Given the description of an element on the screen output the (x, y) to click on. 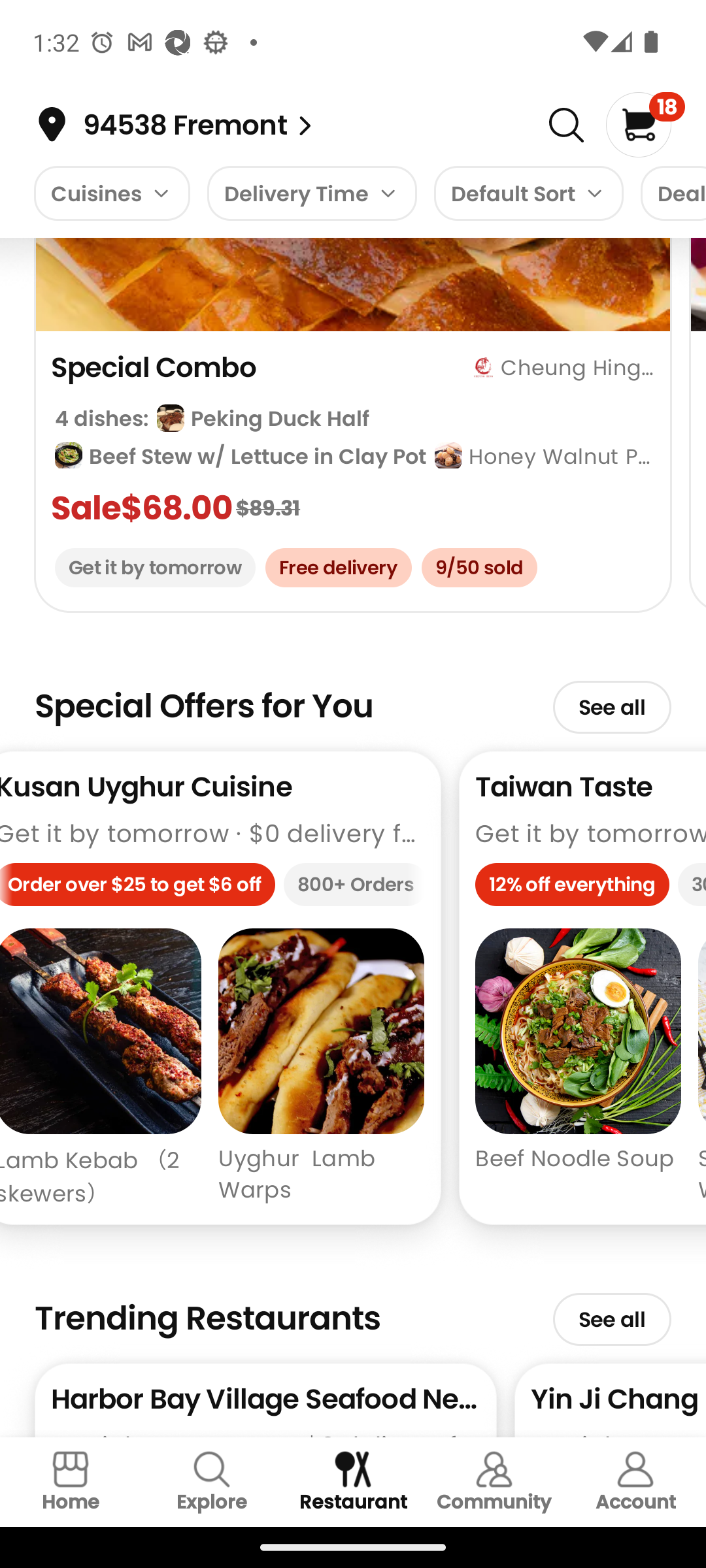
Image (565, 125)
94538 Fremont Image (304, 124)
18 (644, 124)
Cuisines Image (111, 193)
Delivery Time Image (312, 193)
Default Sort Image (528, 193)
Special Offers for You See all (353, 698)
Order over $25 to get $6 off 800+ Orders (212, 888)
12% off everything 300+ Orders (590, 888)
Lamb Kebab （2 skewers） (100, 1067)
Uyghur  Lamb  Warps (321, 1067)
Beef Noodle Soup (578, 1067)
Trending Restaurants See all (353, 1310)
Home (70, 1482)
Explore (211, 1482)
Restaurant (352, 1482)
Community (493, 1482)
Account (635, 1482)
